Given the description of an element on the screen output the (x, y) to click on. 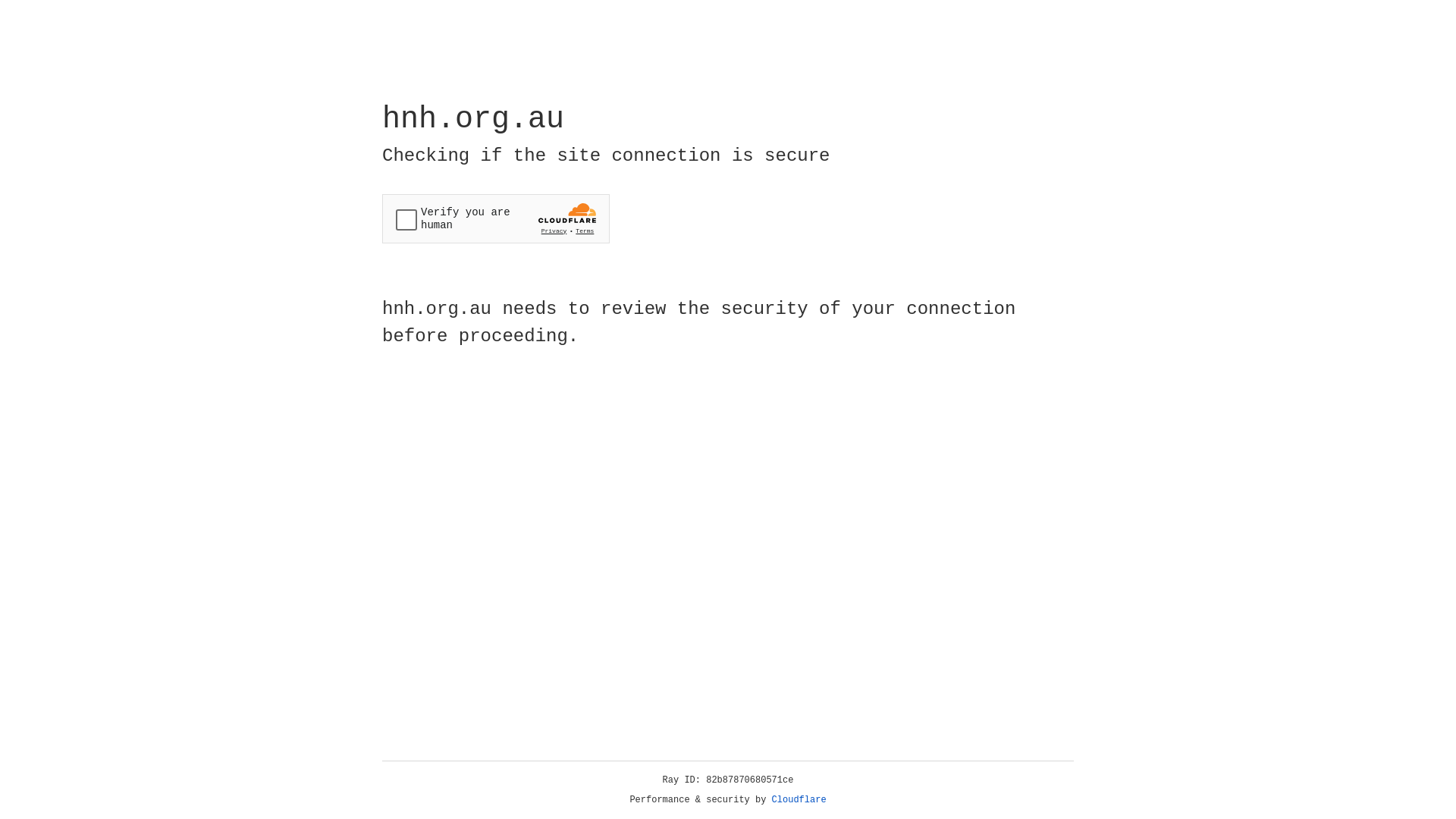
Cloudflare Element type: text (798, 799)
Widget containing a Cloudflare security challenge Element type: hover (495, 218)
